Given the description of an element on the screen output the (x, y) to click on. 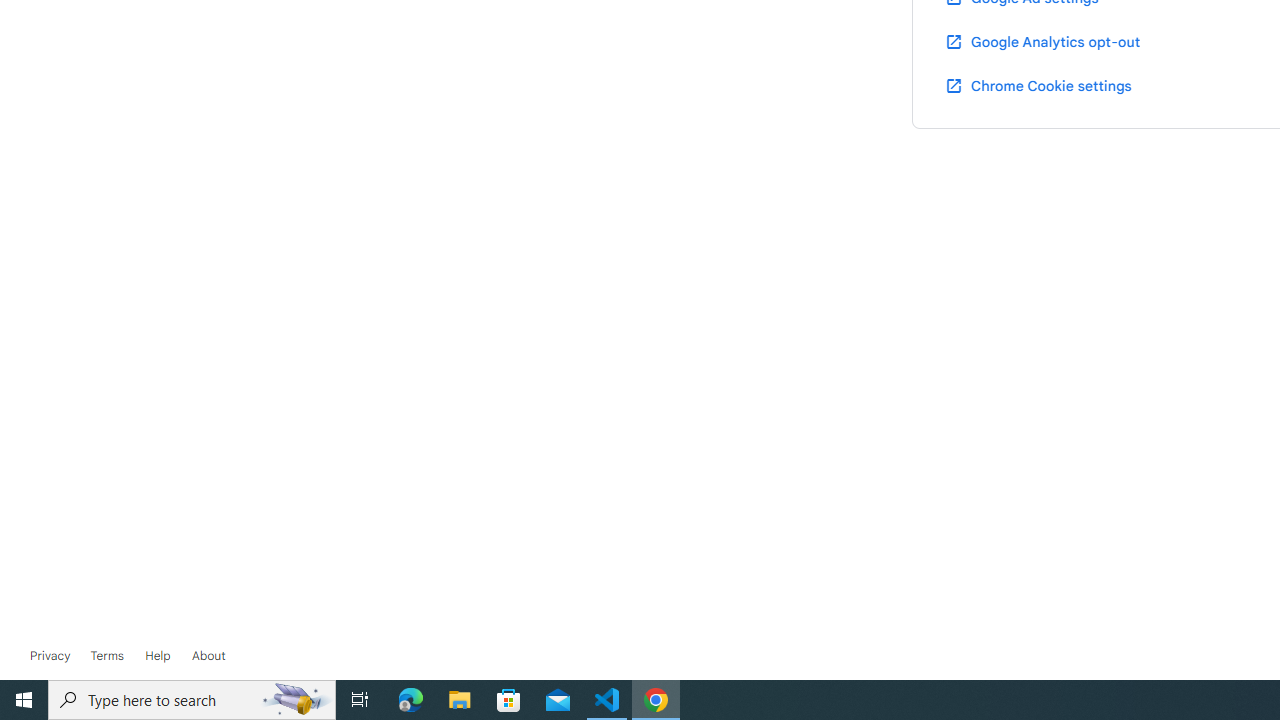
Chrome Cookie settings (1037, 85)
Learn more about Google Account (208, 655)
Google Analytics opt-out (1041, 41)
Terms (106, 655)
Privacy (50, 655)
Help (158, 655)
